Given the description of an element on the screen output the (x, y) to click on. 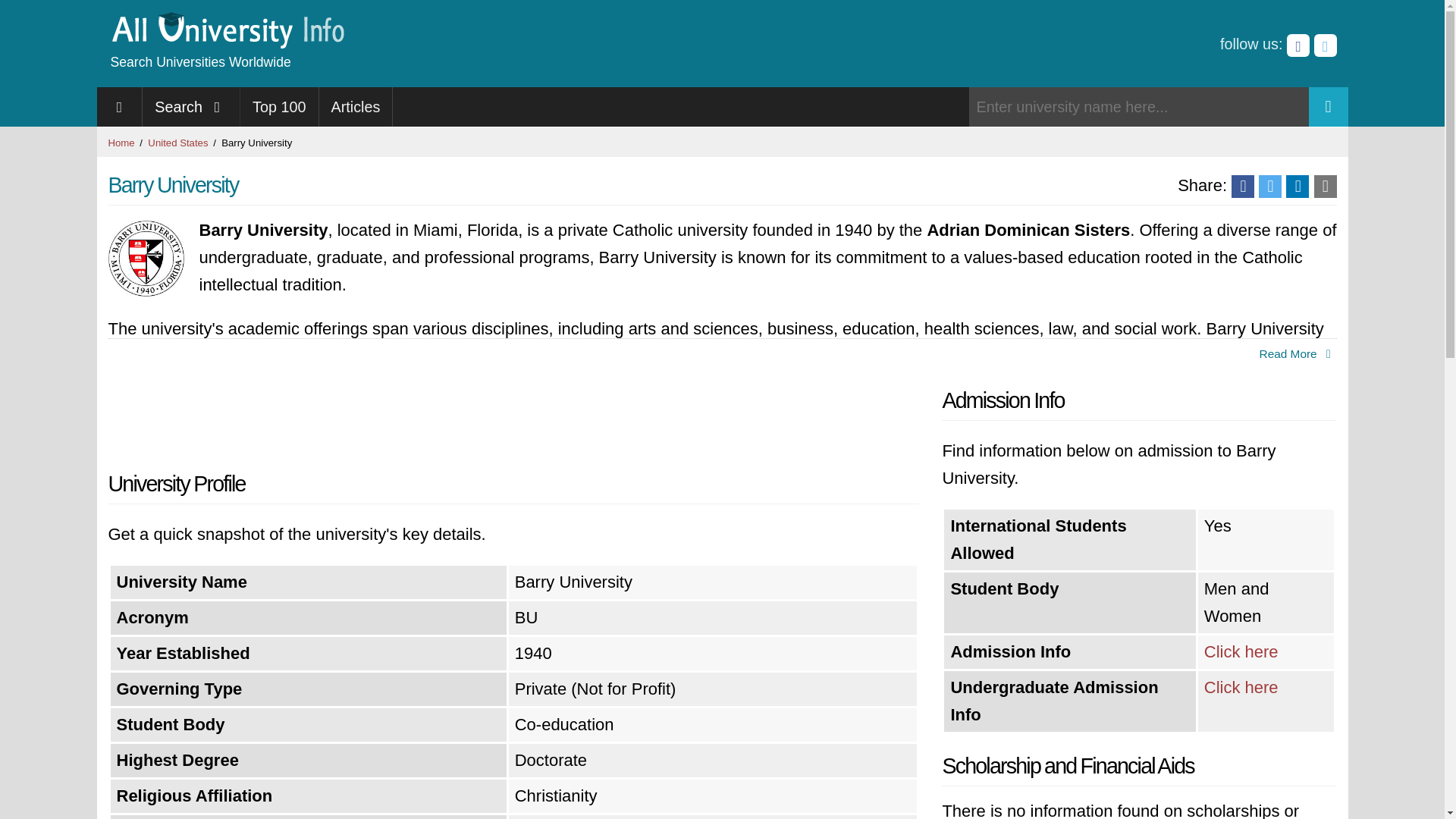
alluniversity.info (226, 43)
Twitter account of www.alluniversity.info (1324, 45)
Share on Facebook (1242, 186)
Read More (1297, 354)
Share on Twitter (1270, 186)
Home (120, 142)
Search (191, 106)
Click here (1241, 651)
Barry University Logo (145, 258)
Share via email (1324, 186)
Share on LinkedIn (1296, 186)
Click here (1241, 687)
United States (178, 142)
Top 100 (279, 106)
Expand to read more. (1297, 354)
